Given the description of an element on the screen output the (x, y) to click on. 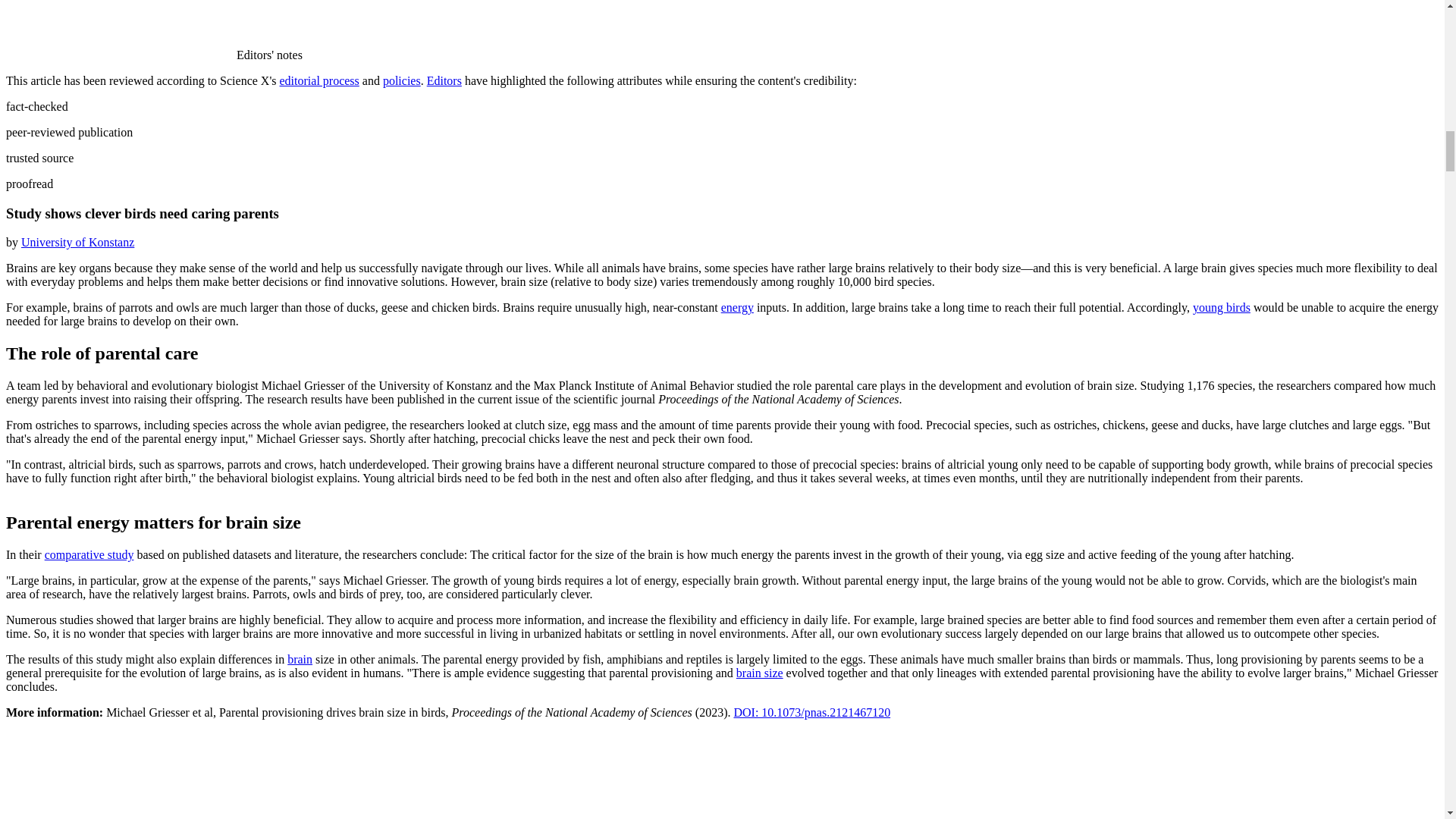
Editors' notes (153, 54)
editorial process (319, 80)
